Given the description of an element on the screen output the (x, y) to click on. 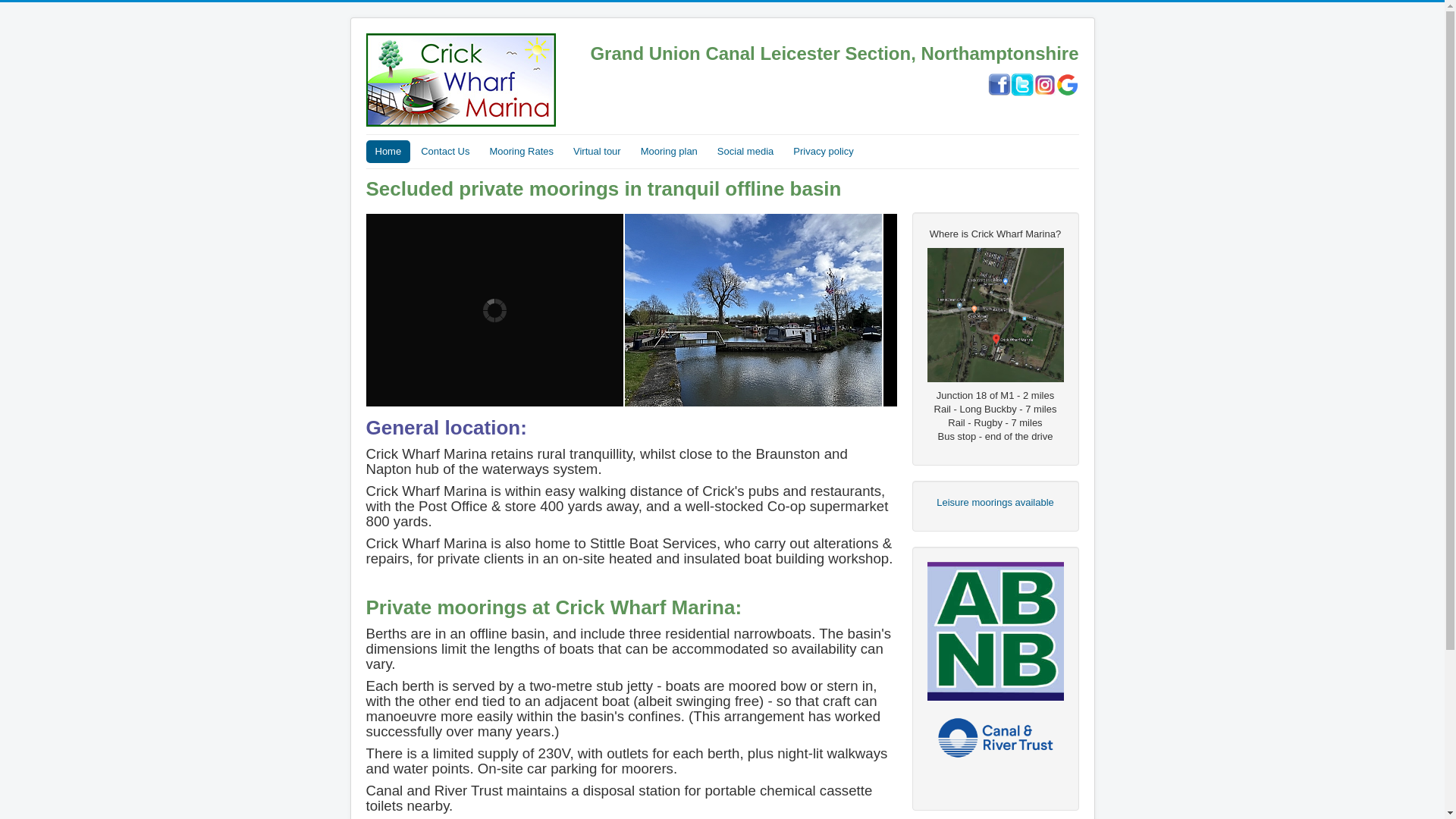
Contact Us (445, 151)
Crick Wharf Marina Facebook (998, 83)
Virtual tour (597, 151)
Leisure moorings available (995, 501)
Home (387, 151)
Crick Wharf Marina map (994, 315)
Privacy policy (822, 151)
Social media (745, 151)
Mooring Rates (521, 151)
Mooring plan (668, 151)
